Given the description of an element on the screen output the (x, y) to click on. 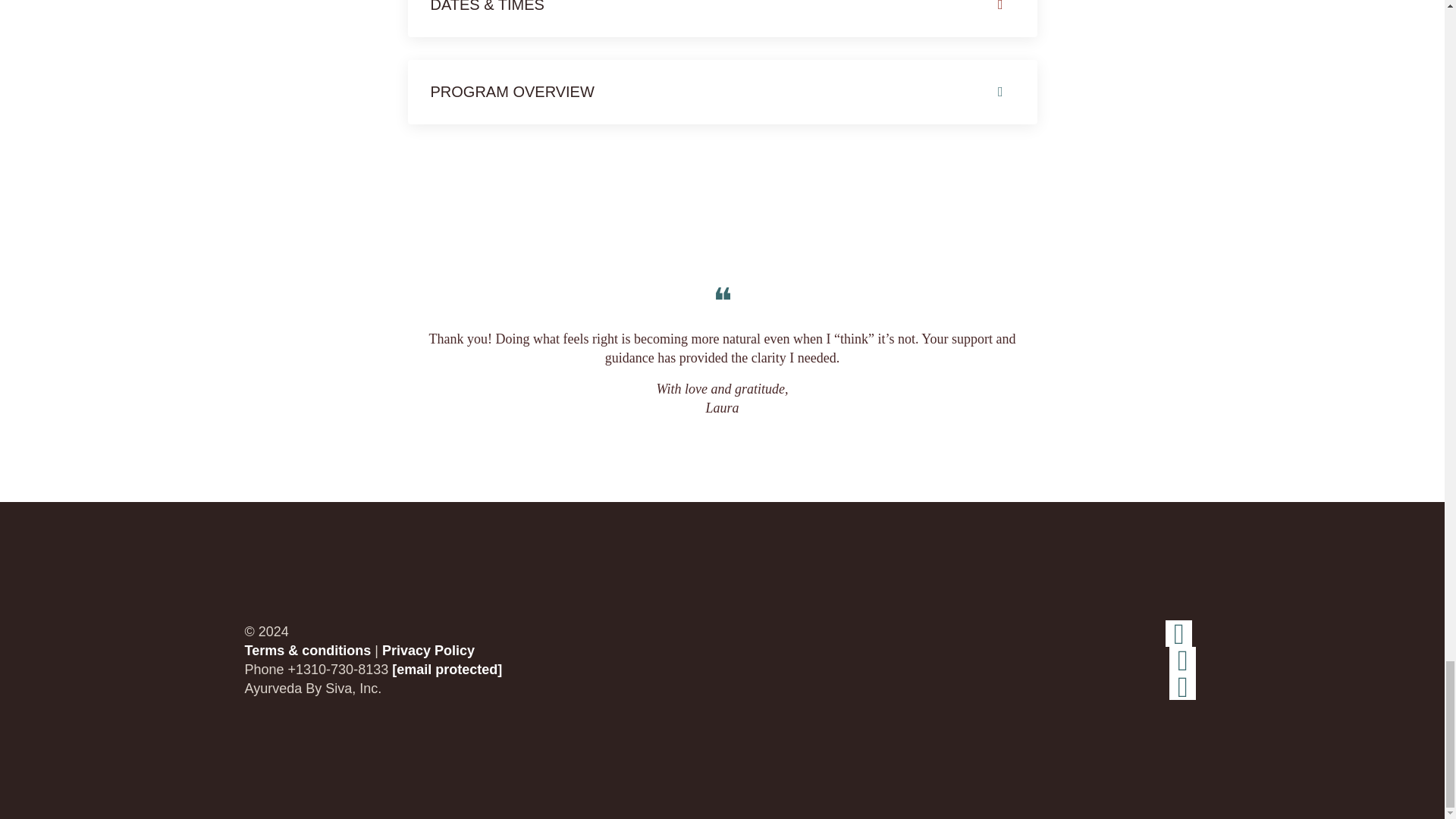
Privacy Policy (427, 650)
Privacy Policy (427, 650)
